Given the description of an element on the screen output the (x, y) to click on. 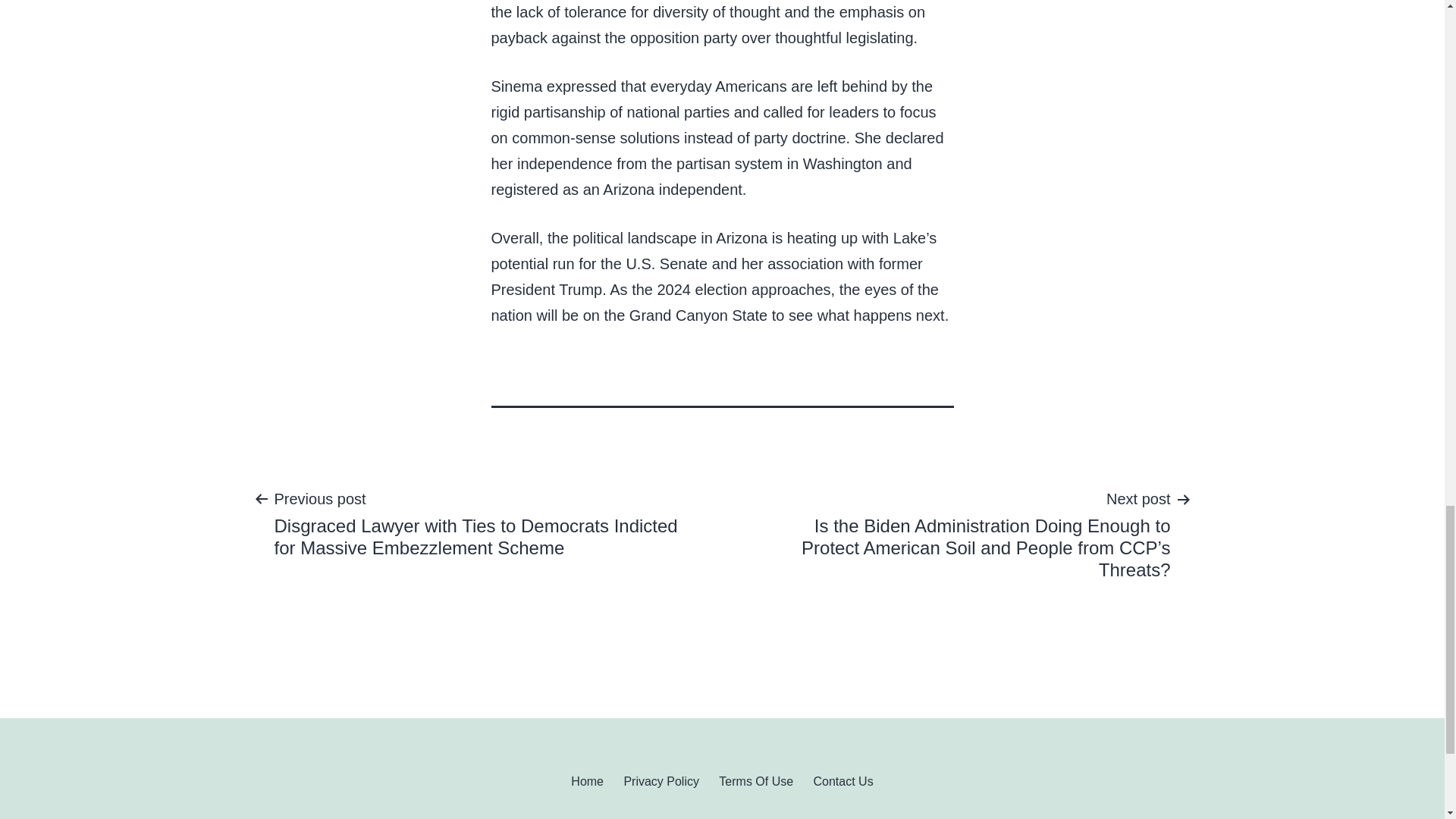
Privacy Policy (660, 781)
Contact Us (843, 781)
Terms Of Use (756, 781)
Home (586, 781)
